Given the description of an element on the screen output the (x, y) to click on. 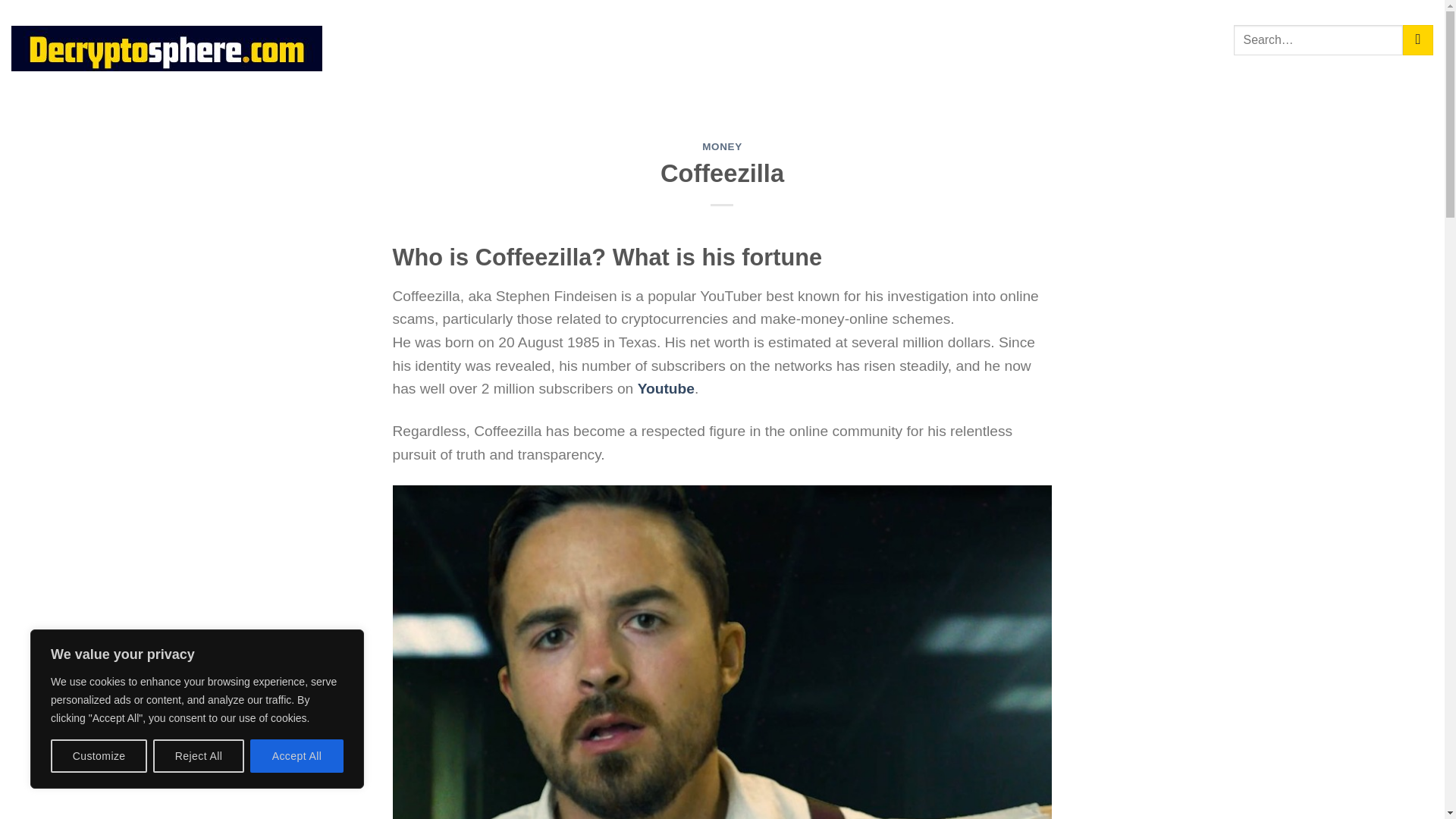
Accept All (296, 756)
MONEY (721, 146)
ARTICLES (753, 40)
Youtube (665, 388)
CONTACT (827, 40)
CRYPTO TITANS (456, 40)
DecryptoSphere.com (170, 48)
TOP WEB3 JOBS (564, 40)
Customize (98, 756)
Reject All (198, 756)
HOME (376, 40)
